Given the description of an element on the screen output the (x, y) to click on. 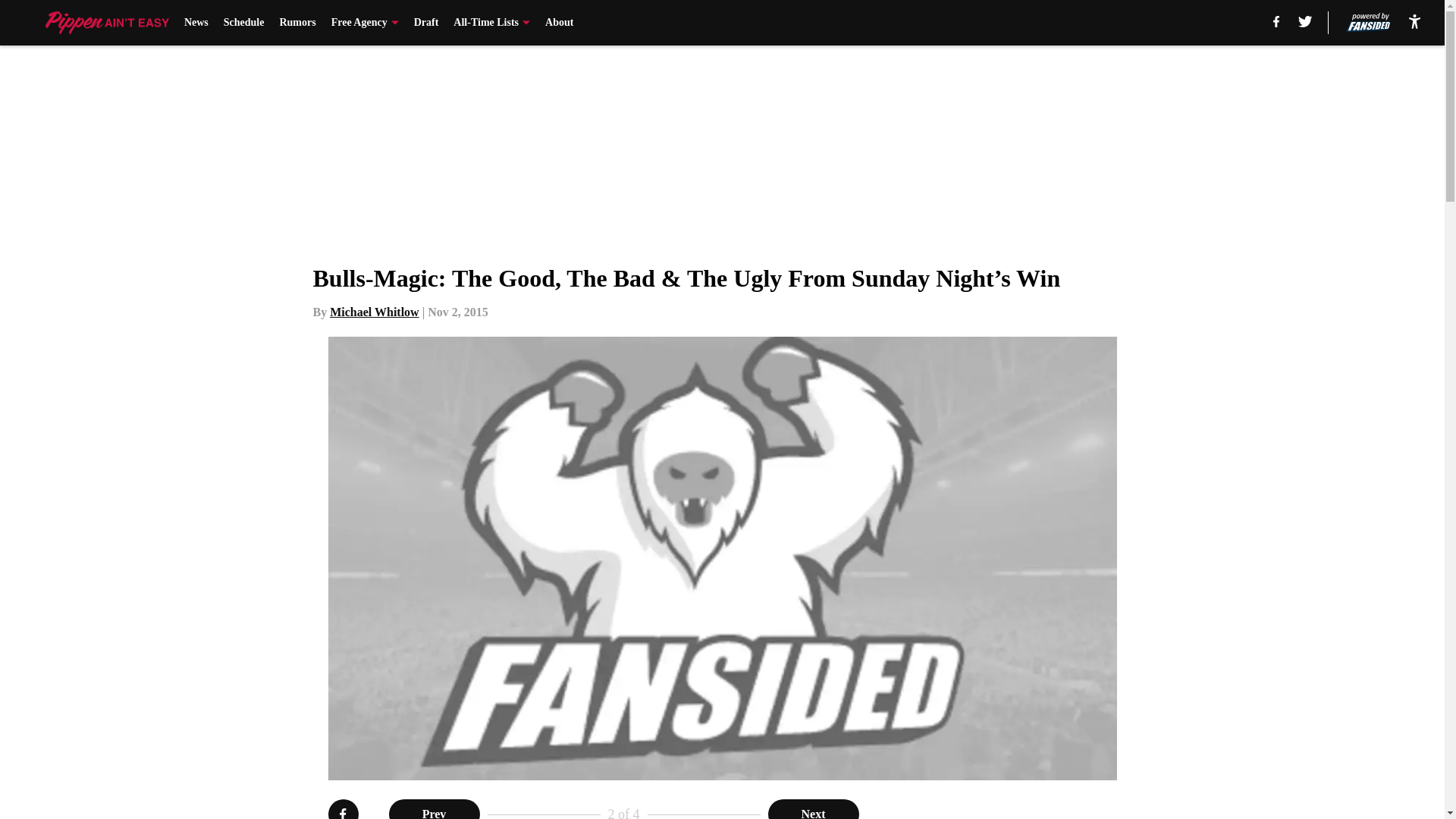
Michael Whitlow (374, 311)
Rumors (297, 22)
Draft (426, 22)
About (558, 22)
Prev (433, 809)
All-Time Lists (490, 22)
News (196, 22)
3rd party ad content (1047, 809)
Free Agency (364, 22)
Next (813, 809)
Schedule (244, 22)
